Given the description of an element on the screen output the (x, y) to click on. 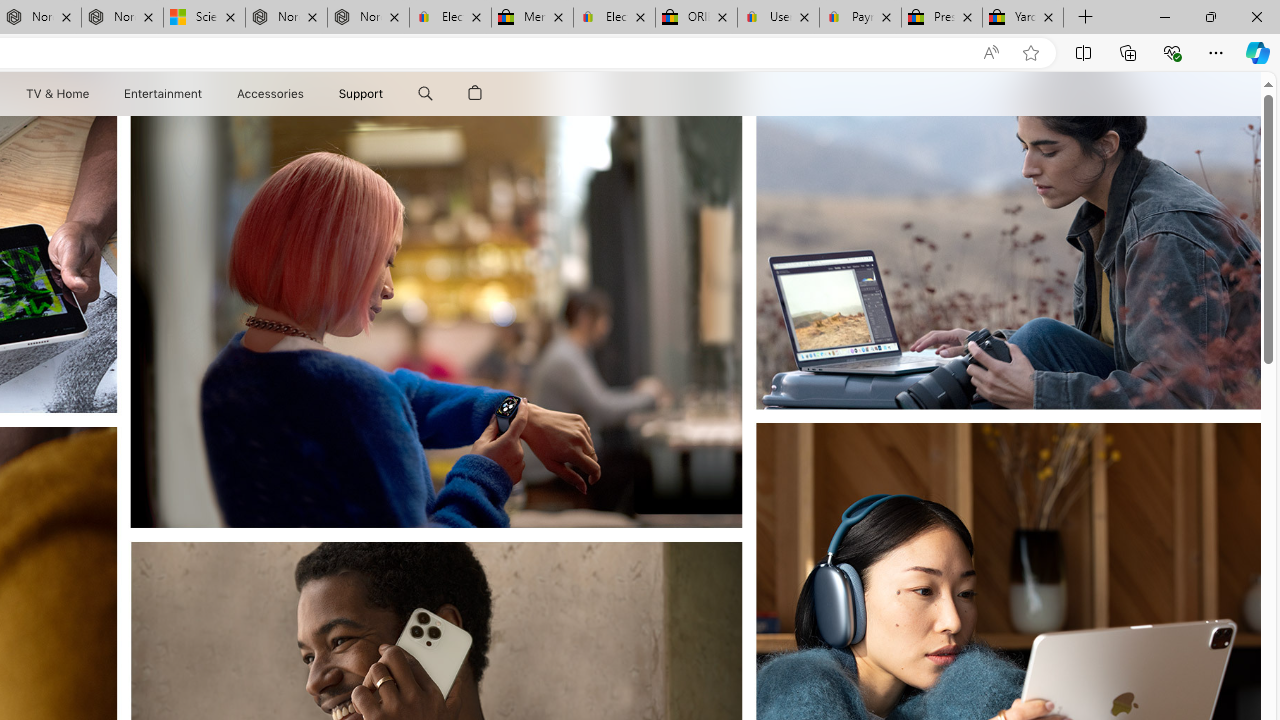
TV and Home (56, 93)
Search Support (425, 93)
AutomationID: globalnav-bag (475, 93)
